Given the description of an element on the screen output the (x, y) to click on. 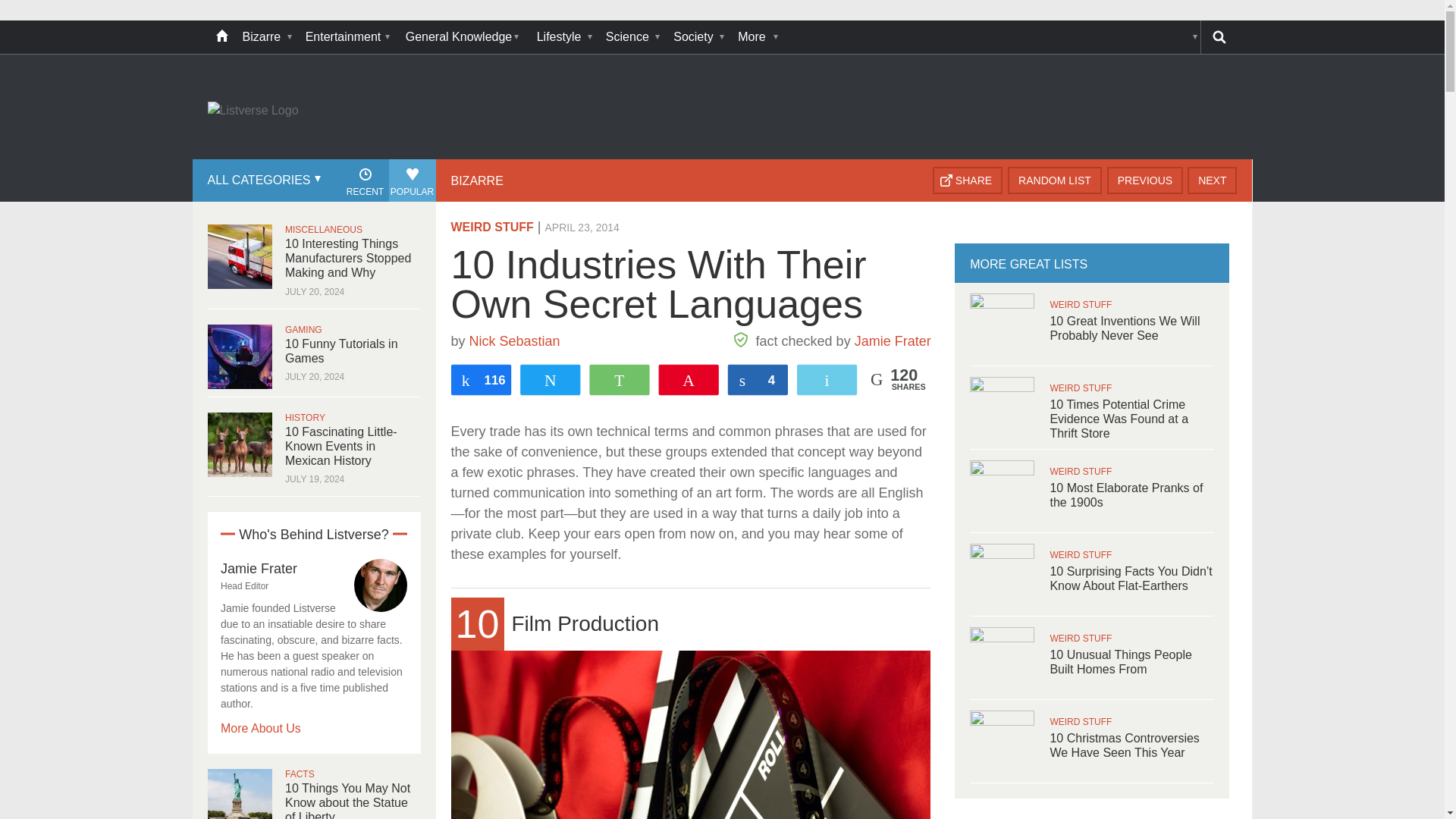
Lifestyle (563, 37)
Share (968, 180)
Recent (364, 179)
Bizarre (266, 37)
Popular (411, 179)
Go to Home (253, 110)
Entertainment (347, 37)
Science (631, 37)
Society (697, 37)
General Knowledge (462, 37)
All Categories (262, 179)
More (756, 37)
